Given the description of an element on the screen output the (x, y) to click on. 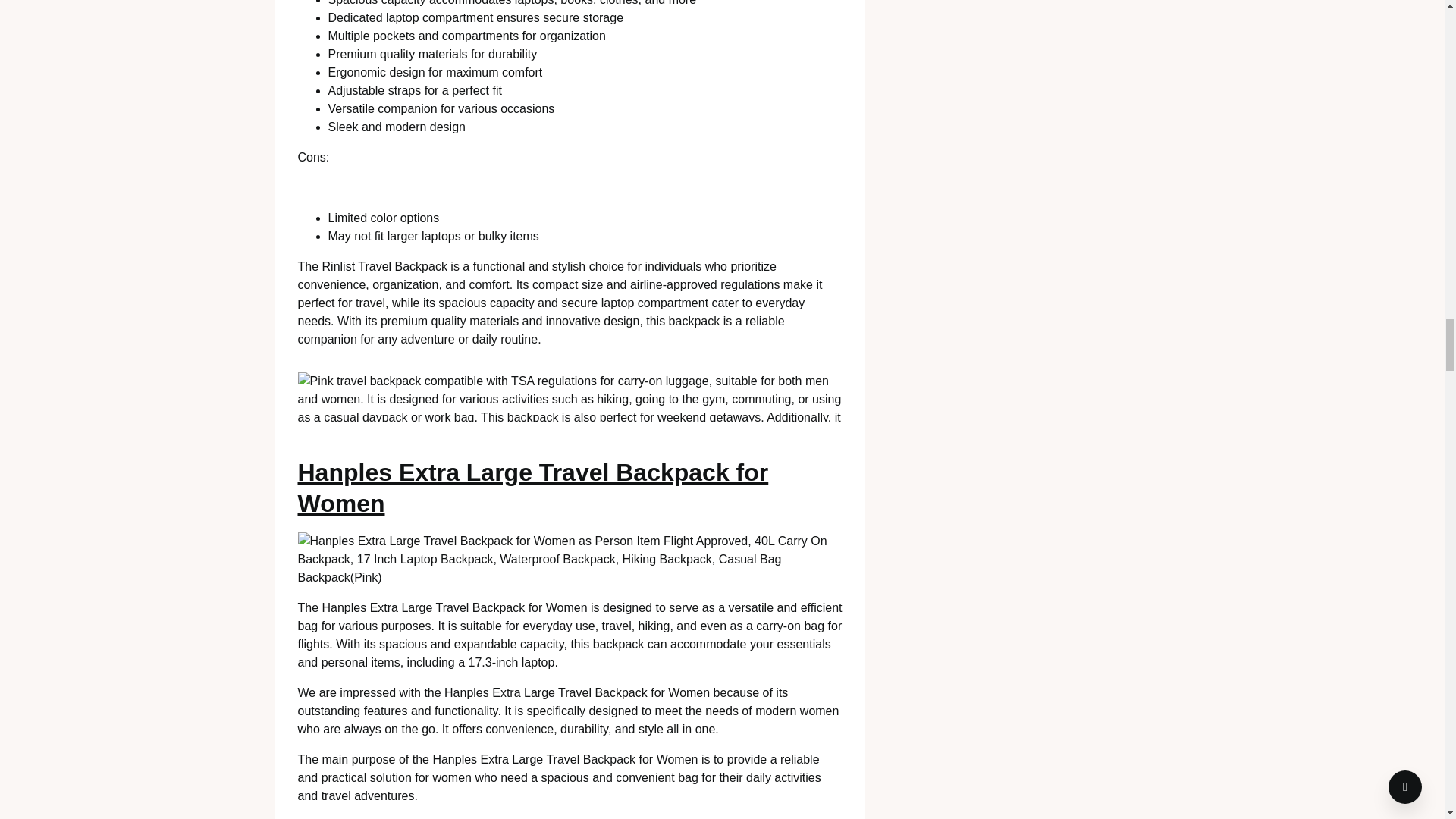
Hanples Extra Large Travel Backpack for Women (532, 487)
